Given the description of an element on the screen output the (x, y) to click on. 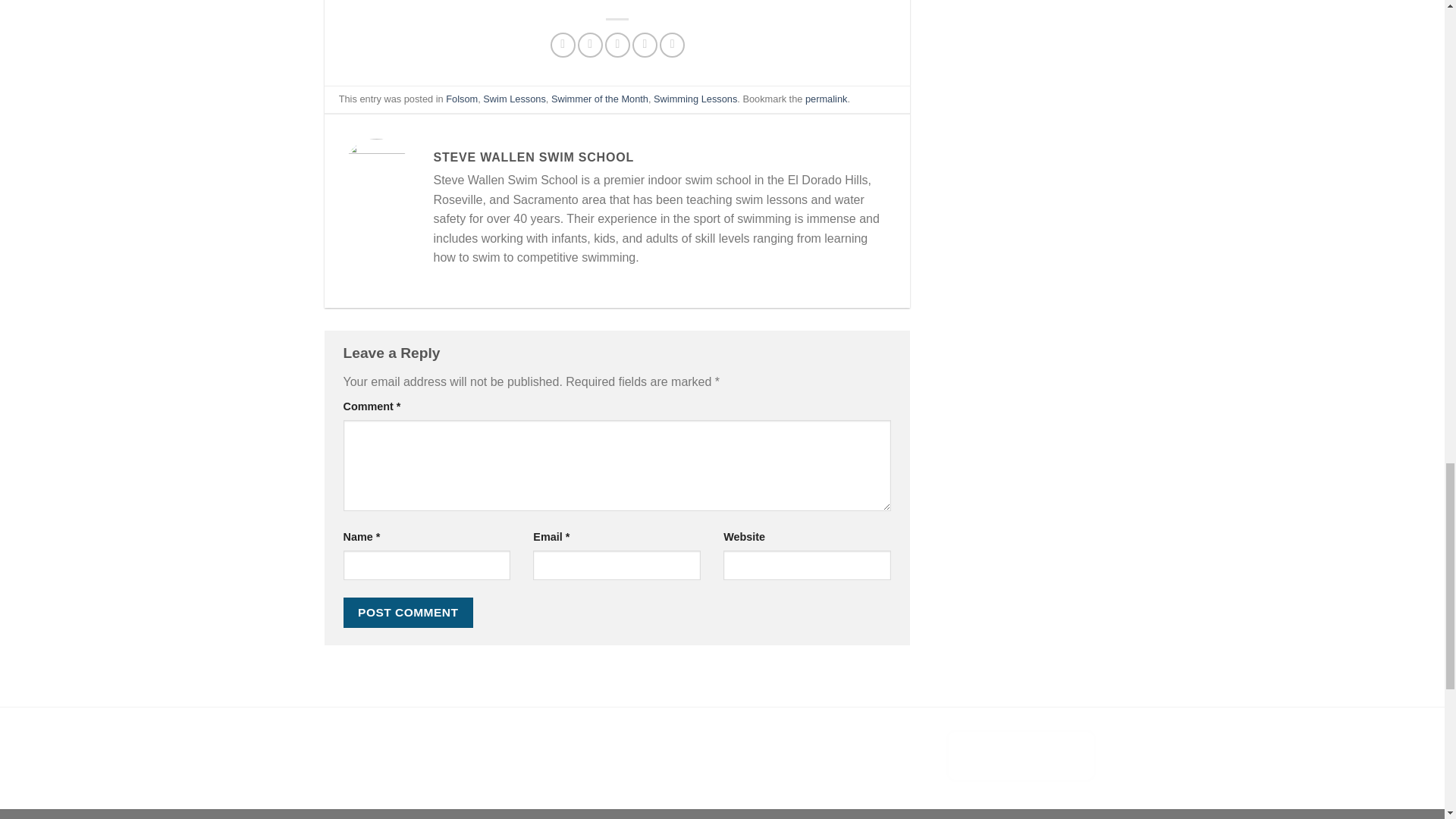
Email to a Friend (617, 44)
Share on Facebook (562, 44)
Permalink to Swimmers of the Month for December 2015 (826, 98)
Post Comment (407, 612)
Share on Twitter (590, 44)
Share on LinkedIn (671, 44)
Pin on Pinterest (644, 44)
